Given the description of an element on the screen output the (x, y) to click on. 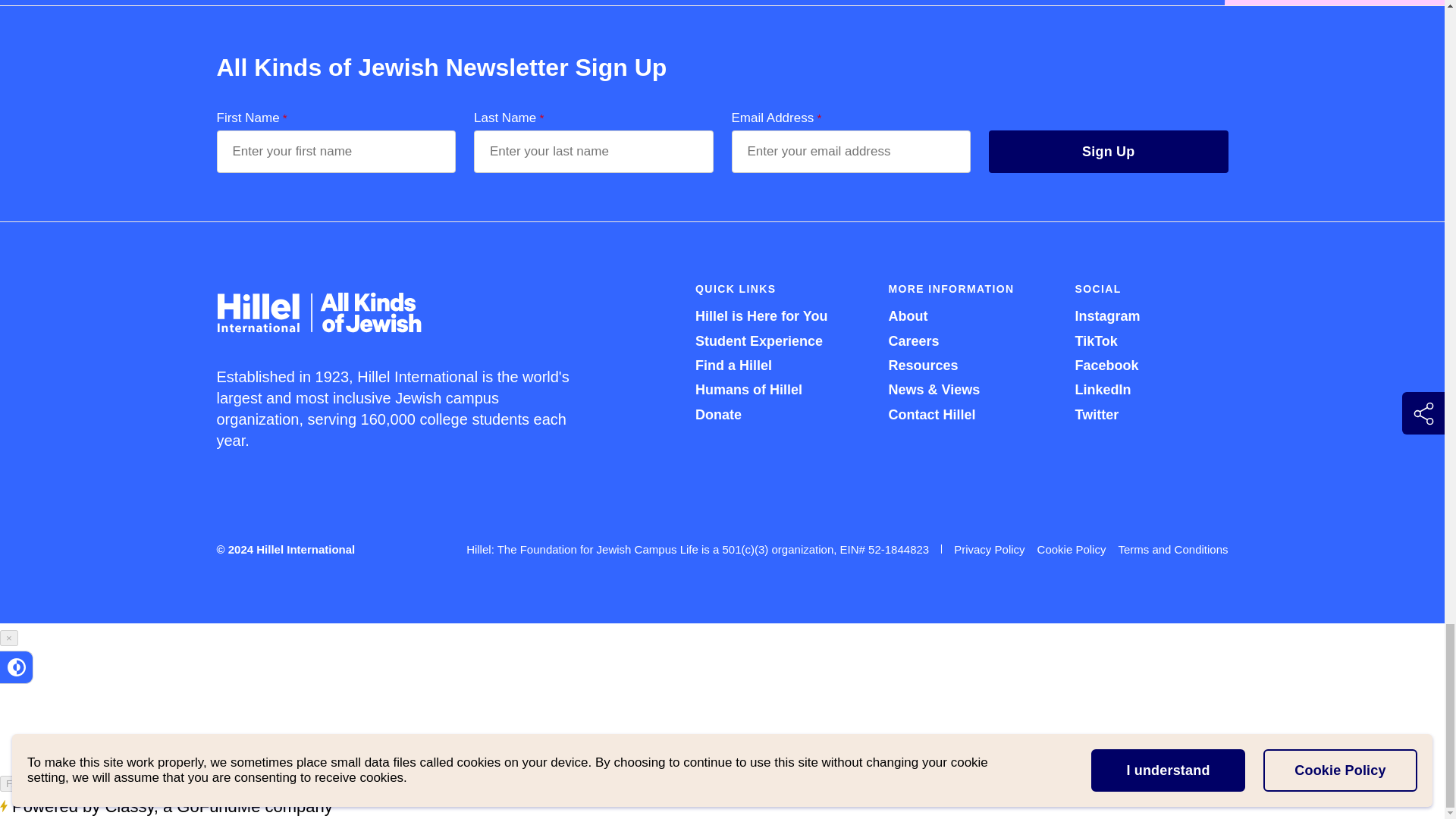
Sign Up (1108, 151)
Email Address (850, 151)
Last Name (593, 151)
First Name (336, 151)
